Given the description of an element on the screen output the (x, y) to click on. 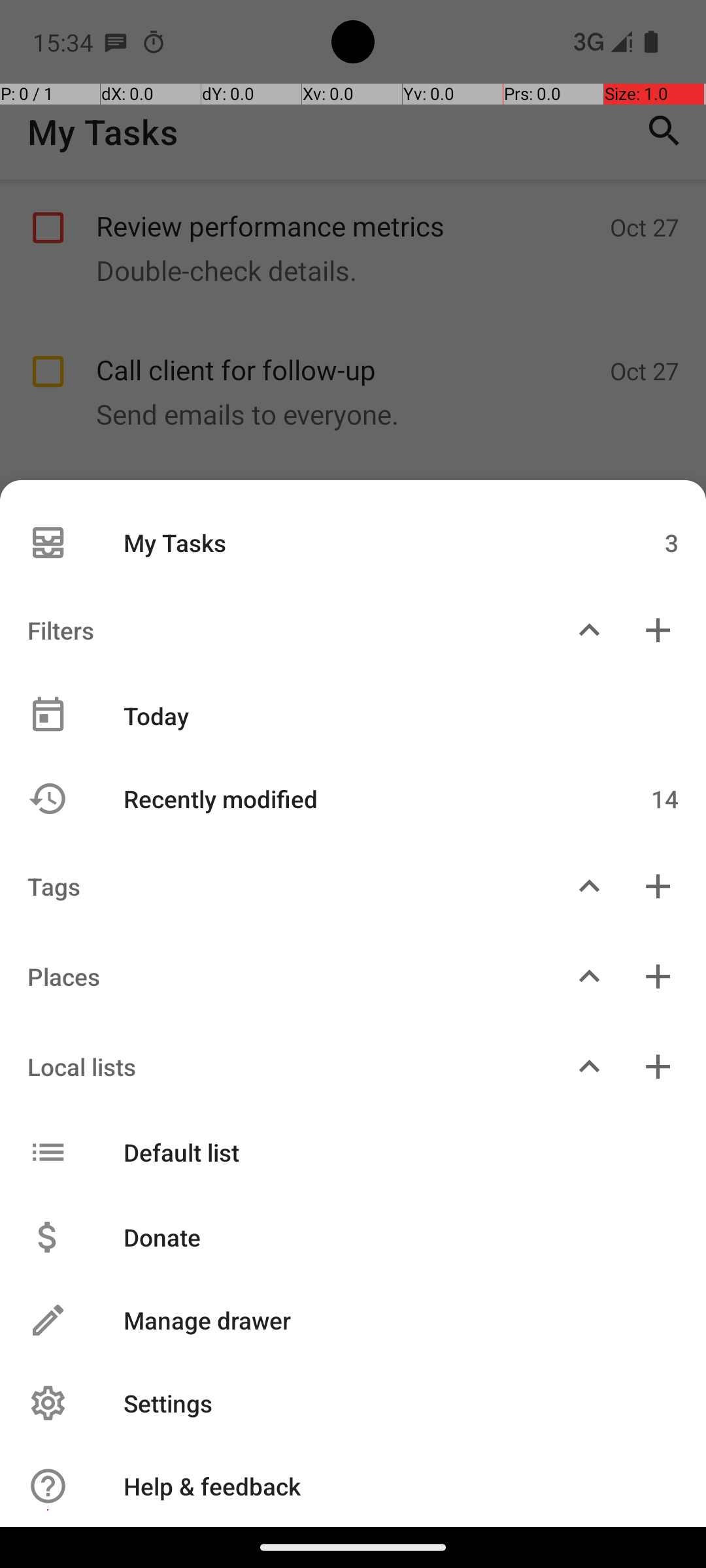
Filters Element type: android.widget.TextView (277, 630)
Recently modified Element type: android.widget.CheckedTextView (344, 798)
Places Element type: android.widget.TextView (277, 976)
Manage drawer Element type: android.widget.TextView (387, 1319)
